Given the description of an element on the screen output the (x, y) to click on. 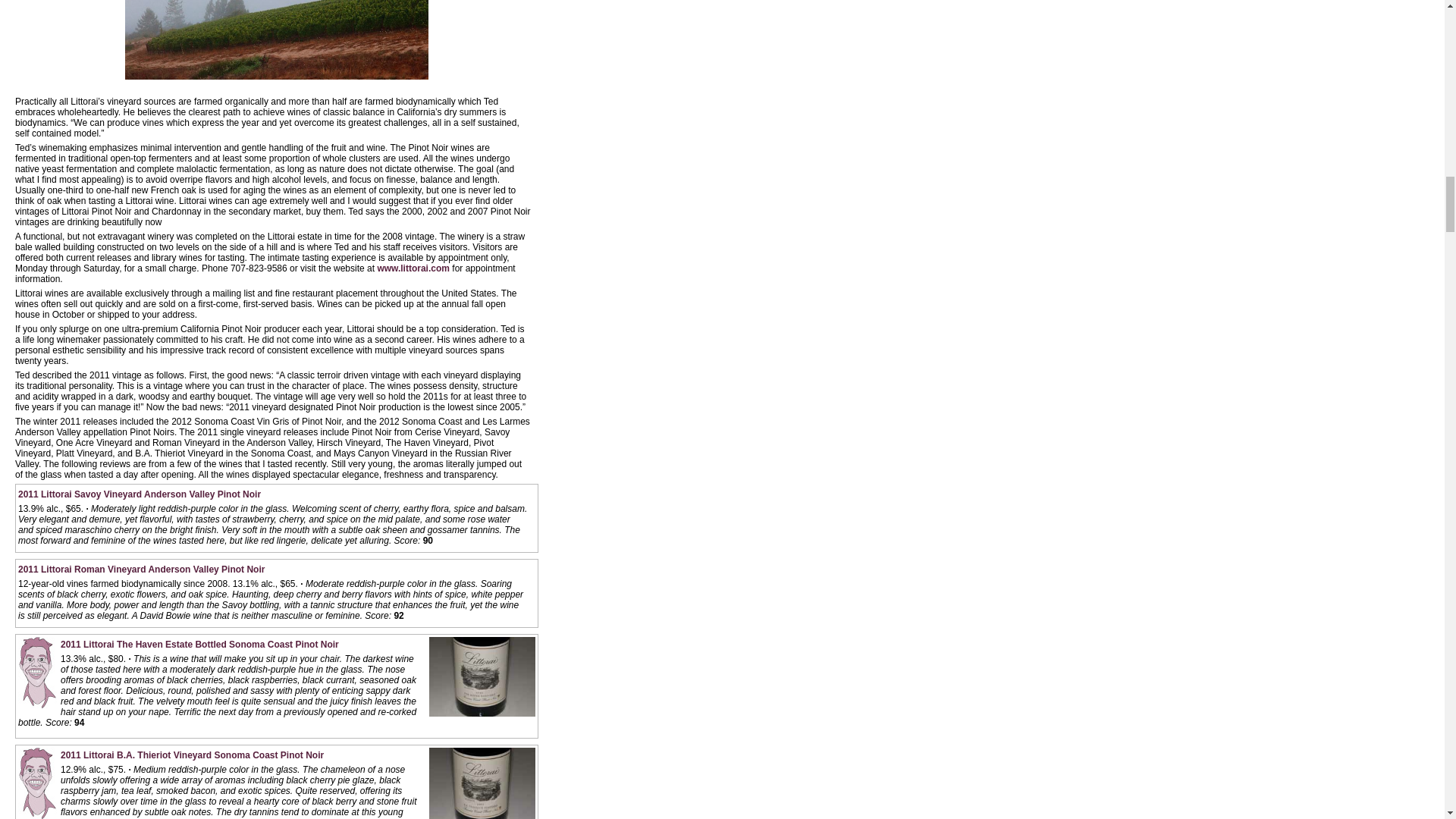
www.littorai.com (413, 267)
2011 Littorai B.A. Thieriot Vineyard Sonoma Coast Pinot Noir (192, 755)
2011 Littorai Roman Vineyard Anderson Valley Pinot Noir (140, 569)
2011 Littorai Savoy Vineyard Anderson Valley Pinot Noir (138, 493)
